Given the description of an element on the screen output the (x, y) to click on. 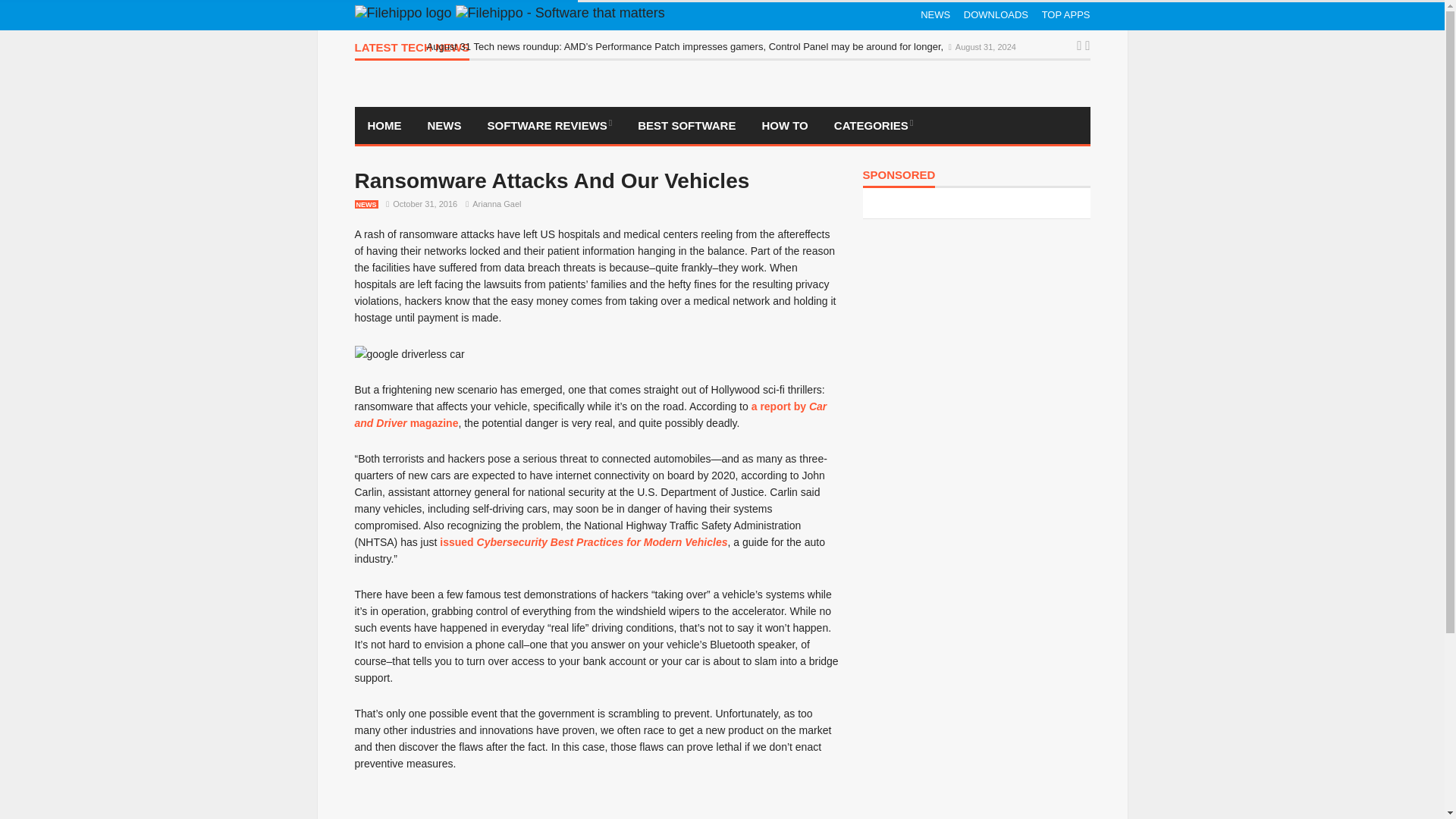
DOWNLOADS (995, 14)
News (443, 125)
Best Software (686, 125)
LATEST TECH NEWS (411, 50)
Categories (873, 125)
SOFTWARE REVIEWS (550, 125)
TOP APPS (1066, 14)
Software Reviews (550, 125)
NEWS (443, 125)
Home (384, 125)
